Given the description of an element on the screen output the (x, y) to click on. 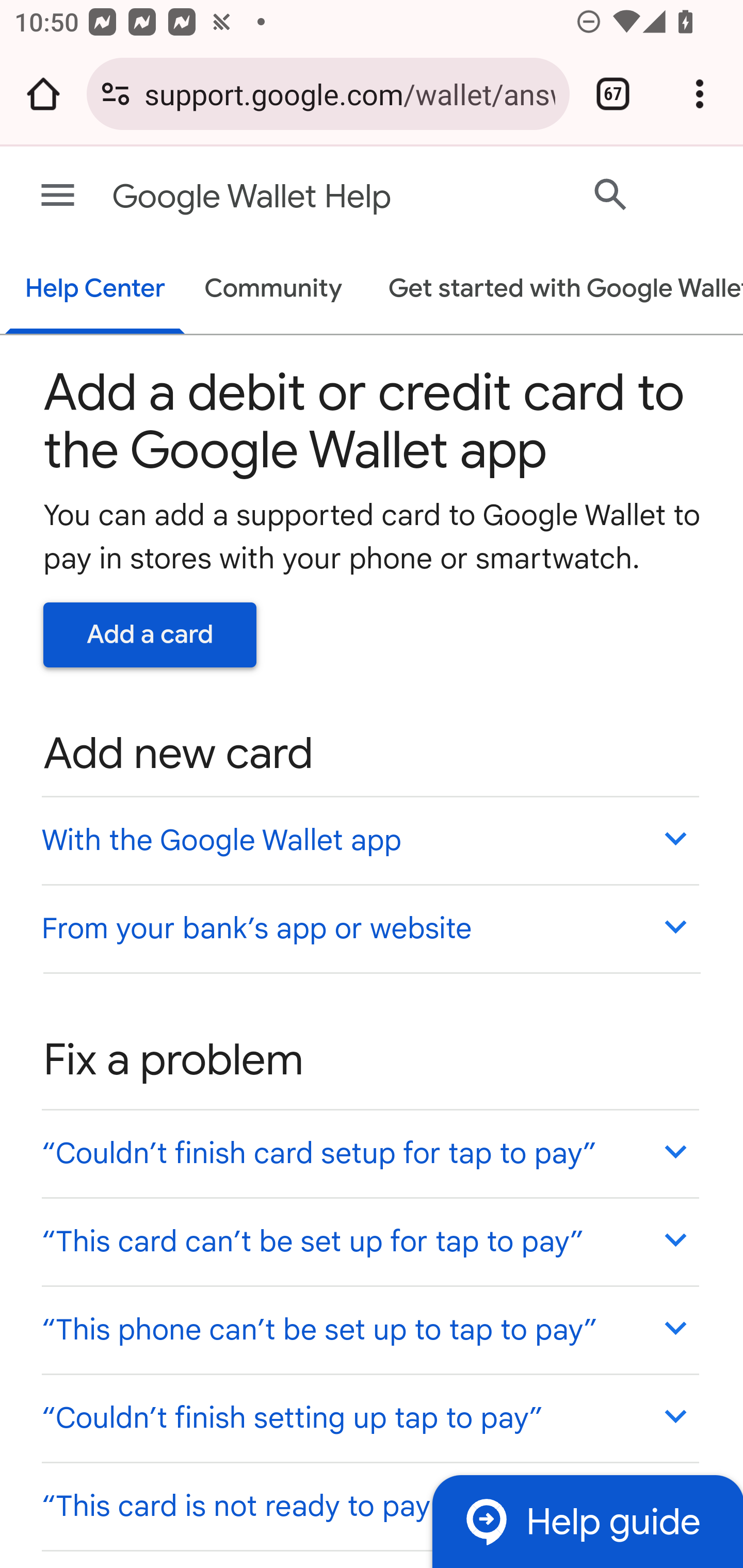
Open the home page (43, 93)
Connection is secure (115, 93)
Switch or close tabs (612, 93)
Customize and control Google Chrome (699, 93)
Main menu (58, 195)
Google Wallet Help (292, 197)
Search Help Center (611, 194)
Help Center (94, 289)
Community (273, 289)
Get started with Google Wallet (555, 289)
Add a card (150, 633)
With the Google Wallet app (369, 839)
From your bank’s app or website (369, 927)
“Couldn’t finish card setup for tap to pay” (369, 1152)
“This card can’t be set up for tap to pay” (369, 1240)
“This phone can’t be set up to tap to pay” (369, 1329)
“Couldn’t finish setting up tap to pay” (369, 1417)
“This card is not ready to pay online” (369, 1504)
